Given the description of an element on the screen output the (x, y) to click on. 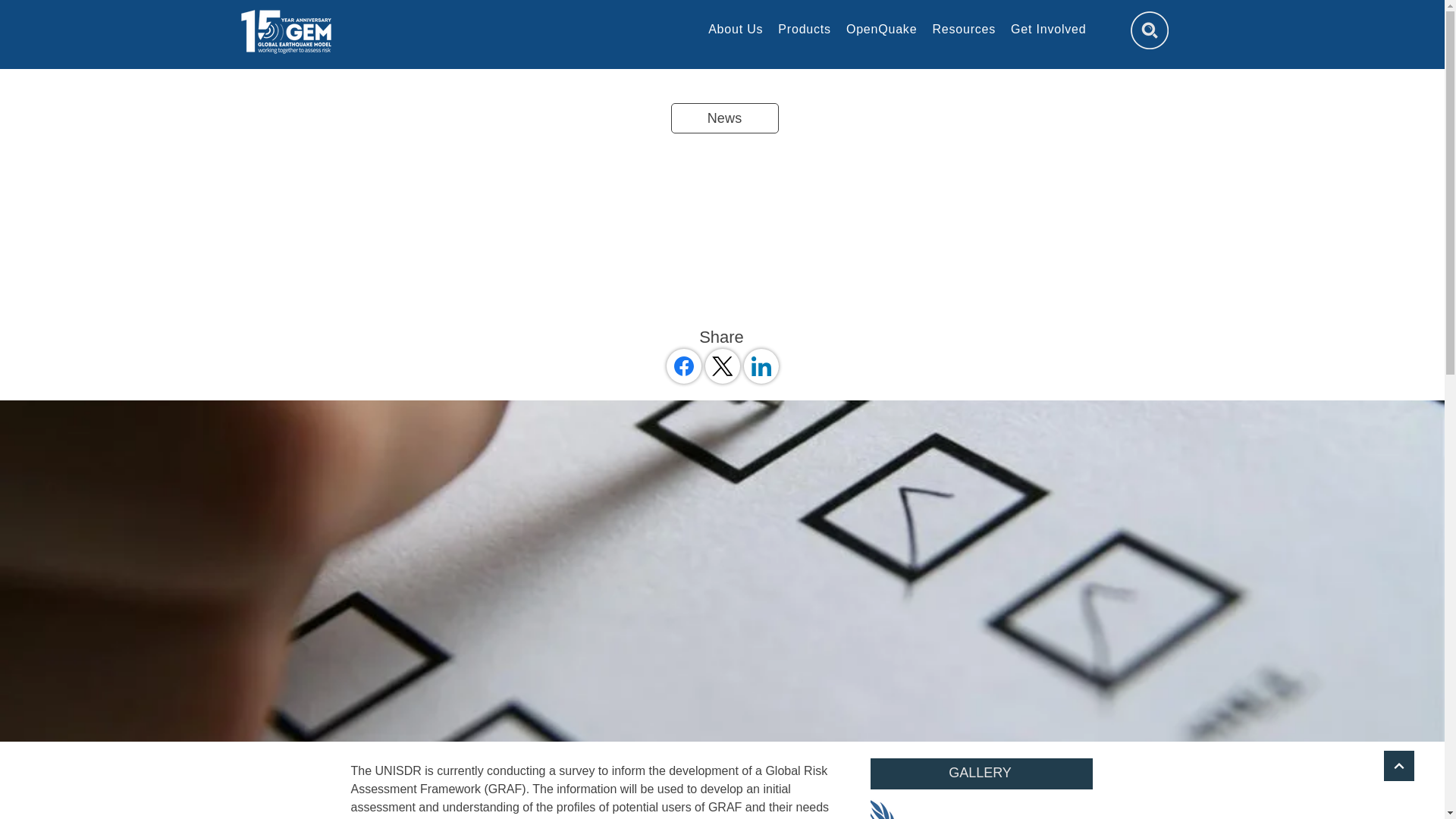
Search (1148, 30)
